Given the description of an element on the screen output the (x, y) to click on. 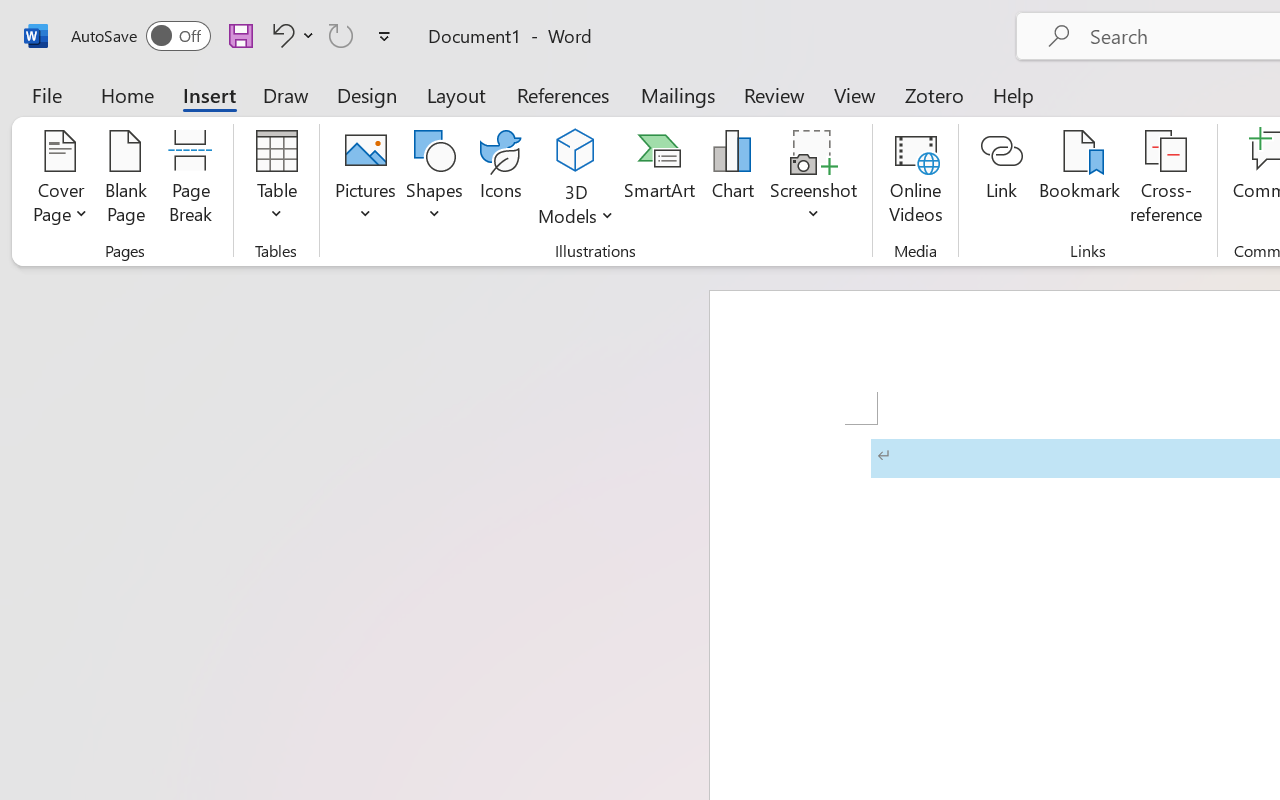
Icons (500, 179)
Page Break (190, 179)
Bookmark... (1079, 179)
3D Models (576, 179)
Link (1001, 179)
